Given the description of an element on the screen output the (x, y) to click on. 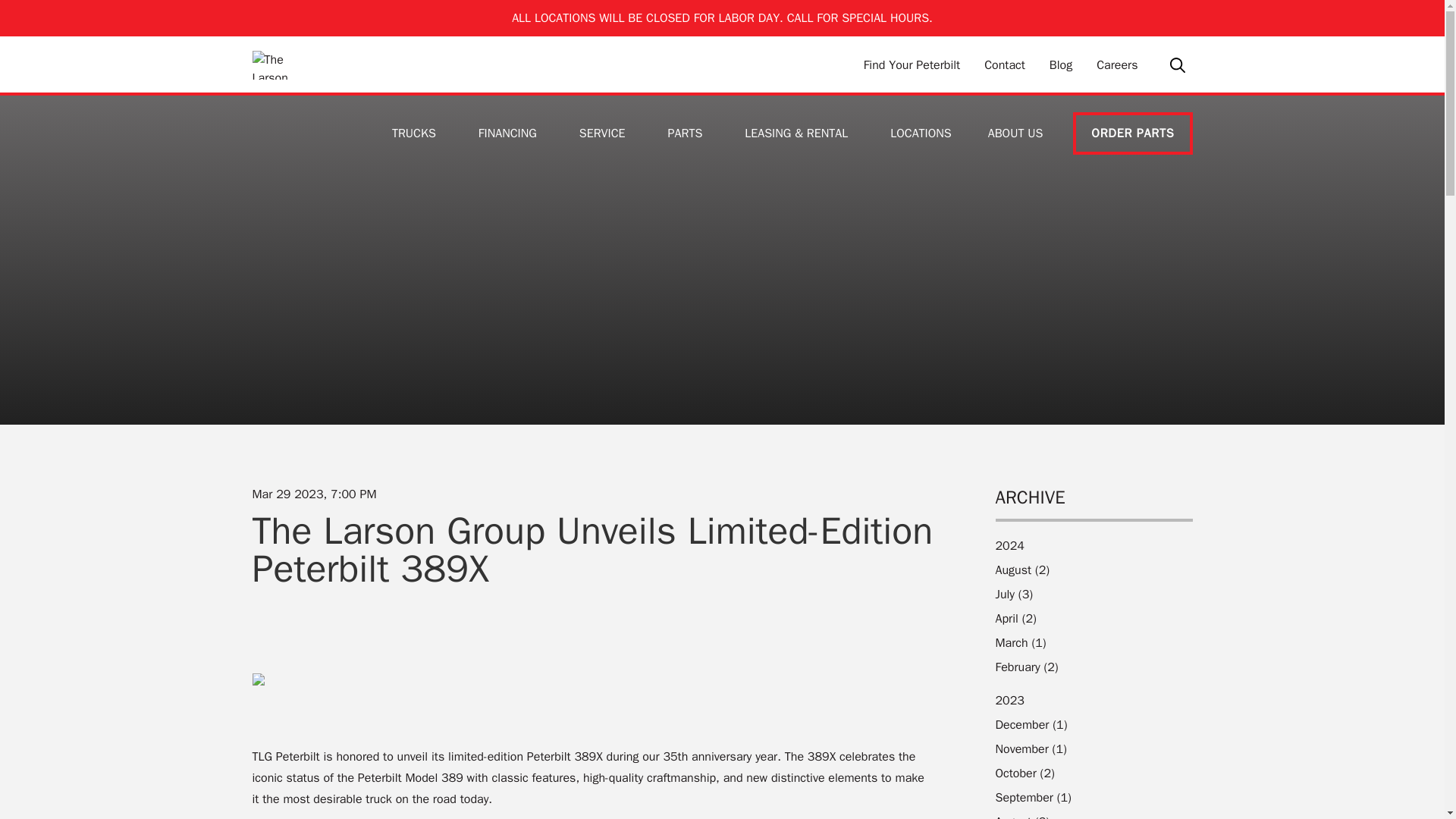
Blog (1060, 65)
TRUCKS (416, 133)
Careers (1117, 65)
Find Your Peterbilt (911, 65)
Contact (1004, 65)
Search (1176, 64)
SERVICE (605, 133)
PARTS (688, 133)
FINANCING (509, 133)
